Given the description of an element on the screen output the (x, y) to click on. 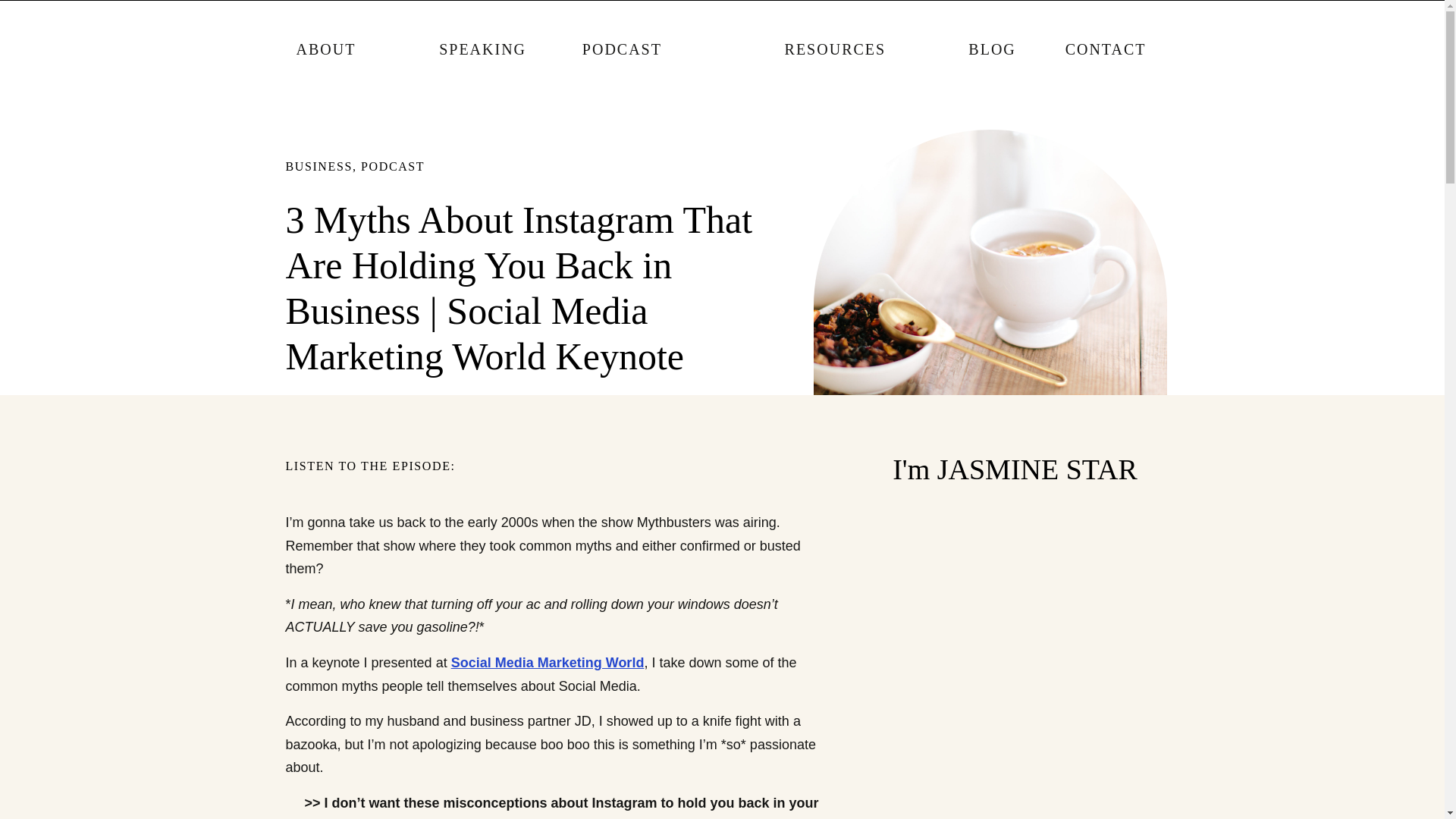
ABOUT (325, 48)
SPEAKING (482, 54)
RESOURCES (835, 48)
LISTEN TO THE EPISODE: (536, 468)
PODCAST (393, 165)
CONTACT (1106, 59)
Social Media Marketing World (548, 662)
BLOG (991, 54)
PODCAST (622, 59)
BUSINESS (318, 165)
